Given the description of an element on the screen output the (x, y) to click on. 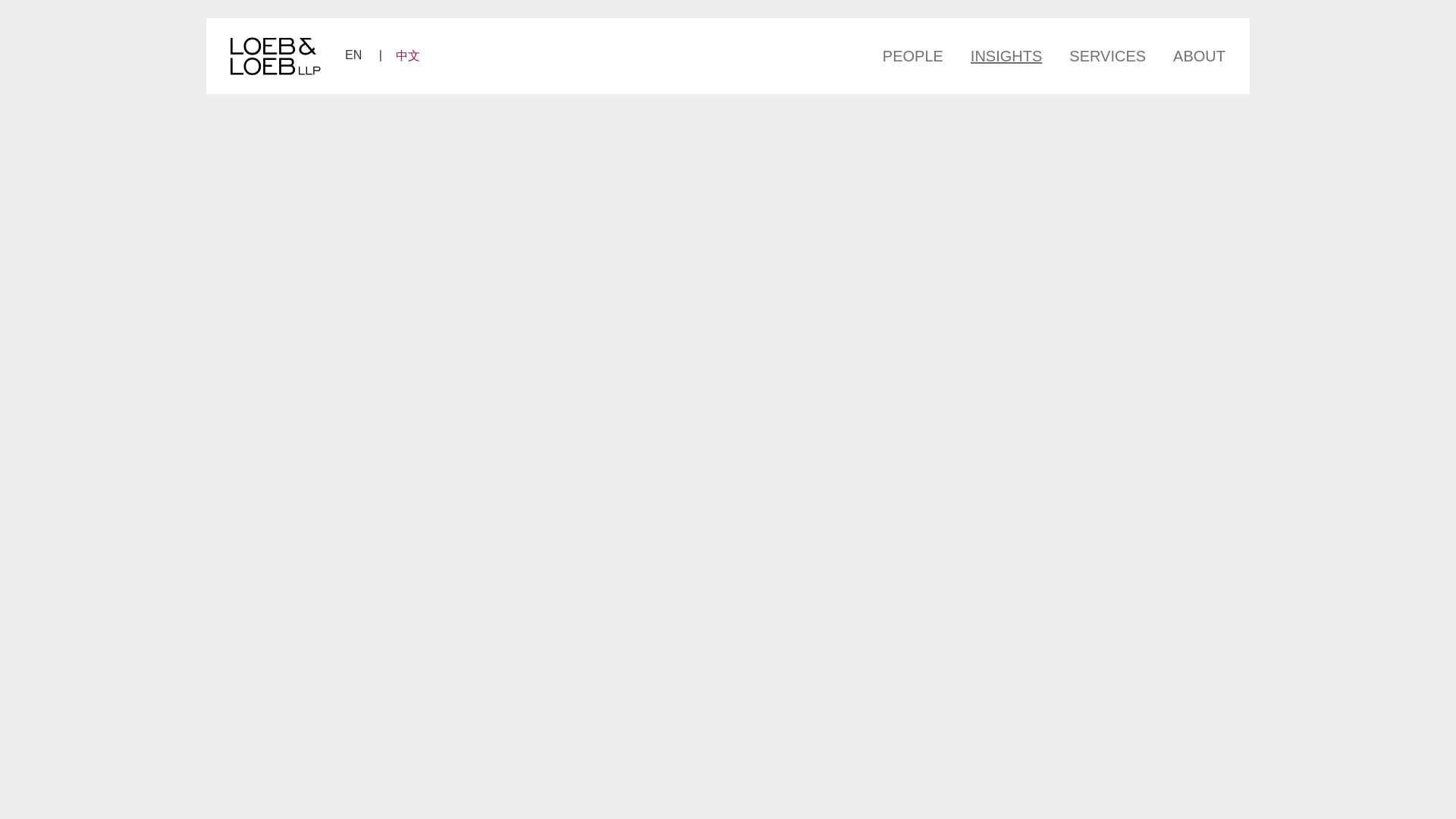
PEOPLE (919, 54)
SERVICES (1106, 54)
INSIGHTS (1005, 54)
ABOUT (1191, 54)
